Given the description of an element on the screen output the (x, y) to click on. 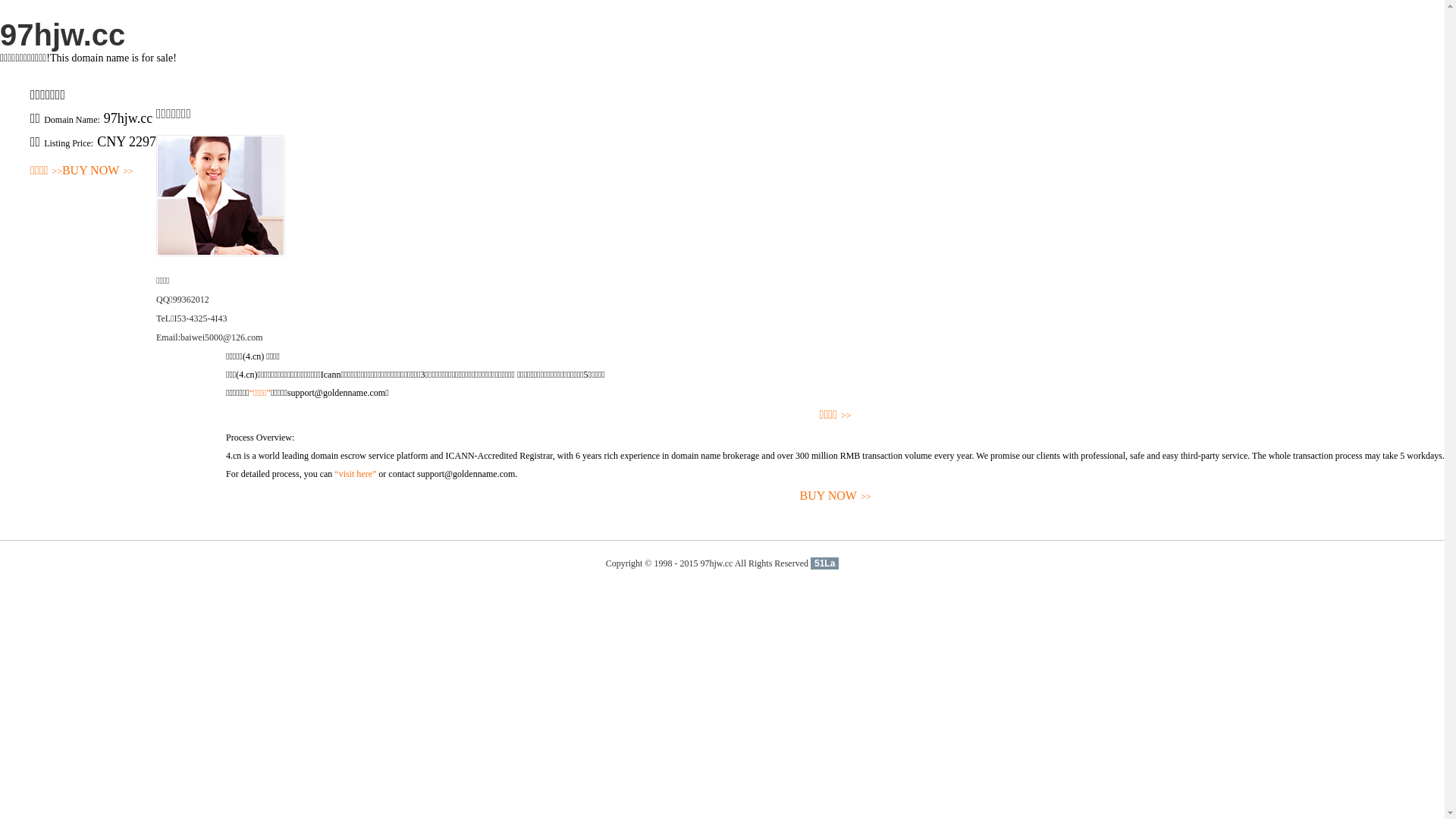
51La Element type: text (824, 563)
BUY NOW>> Element type: text (834, 496)
BUY NOW>> Element type: text (97, 170)
